Given the description of an element on the screen output the (x, y) to click on. 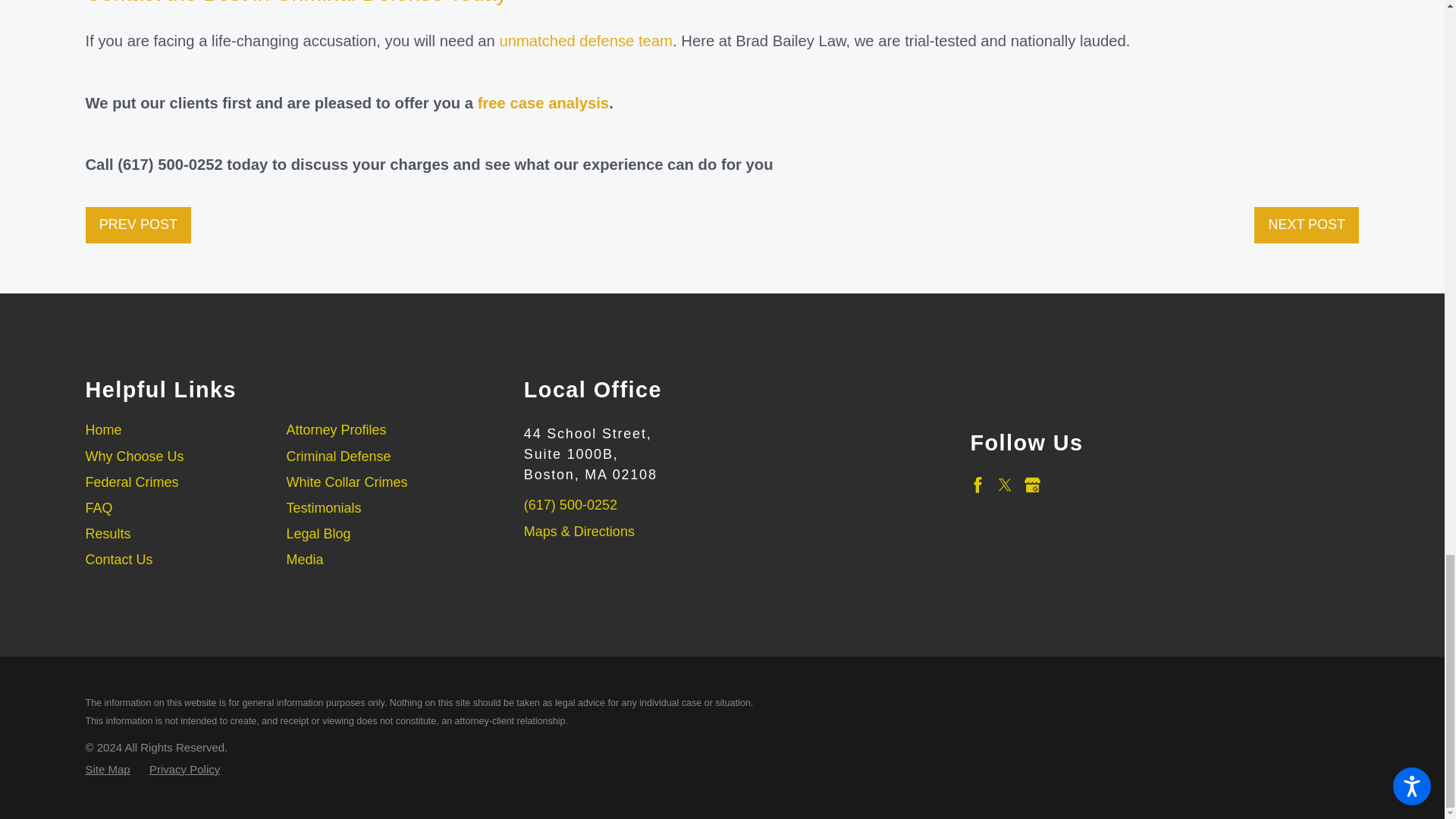
Twitter (1005, 484)
Facebook (977, 484)
Google Business Profile (1033, 484)
